Given the description of an element on the screen output the (x, y) to click on. 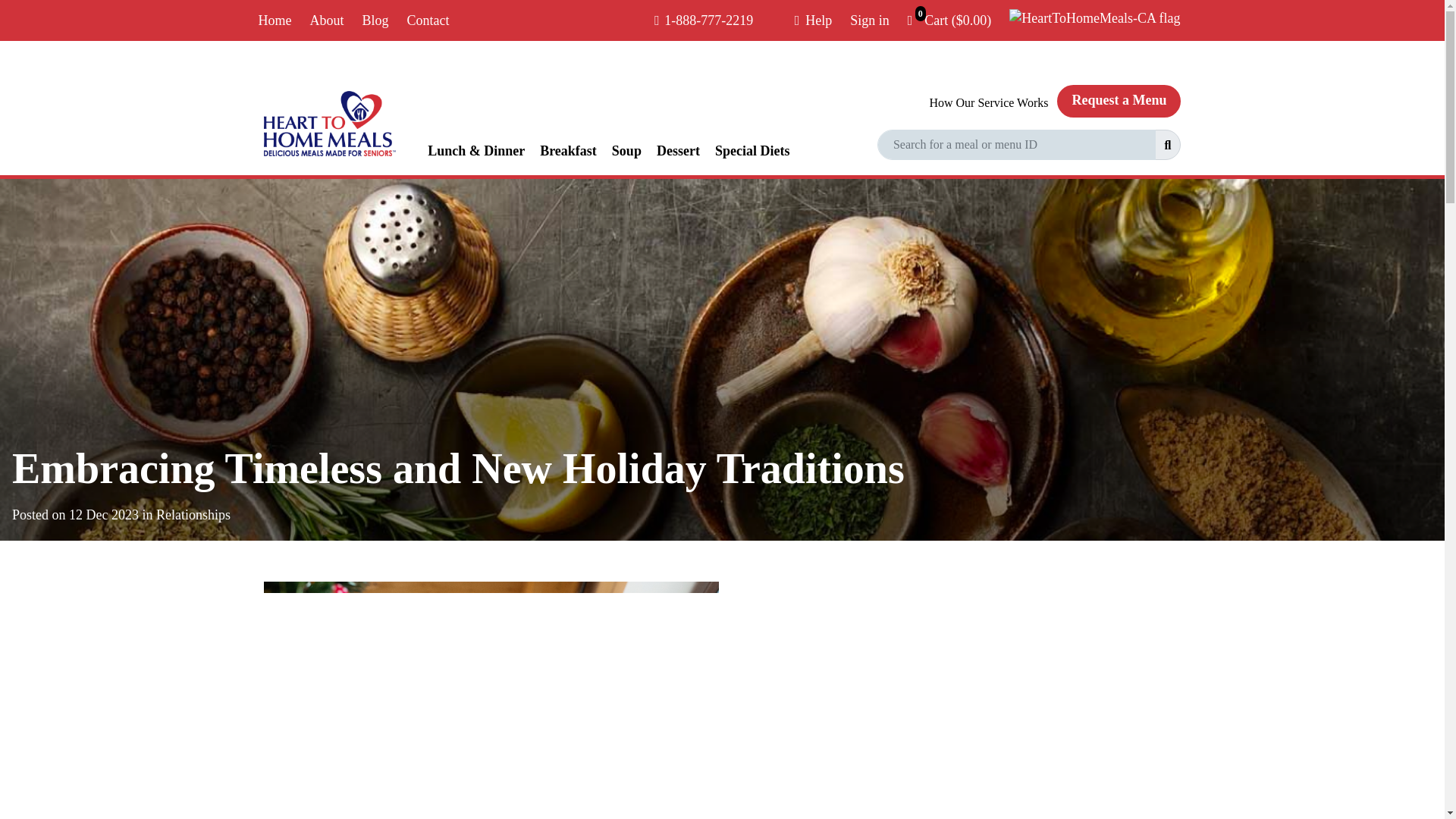
You are on the HeartToHomeMeals-CA website (1097, 19)
About (328, 20)
About (328, 20)
Blog (378, 20)
Help (816, 20)
Home (276, 20)
Contact (431, 20)
Sign in (872, 20)
Special Diets (752, 150)
Request a Menu (1118, 101)
